Given the description of an element on the screen output the (x, y) to click on. 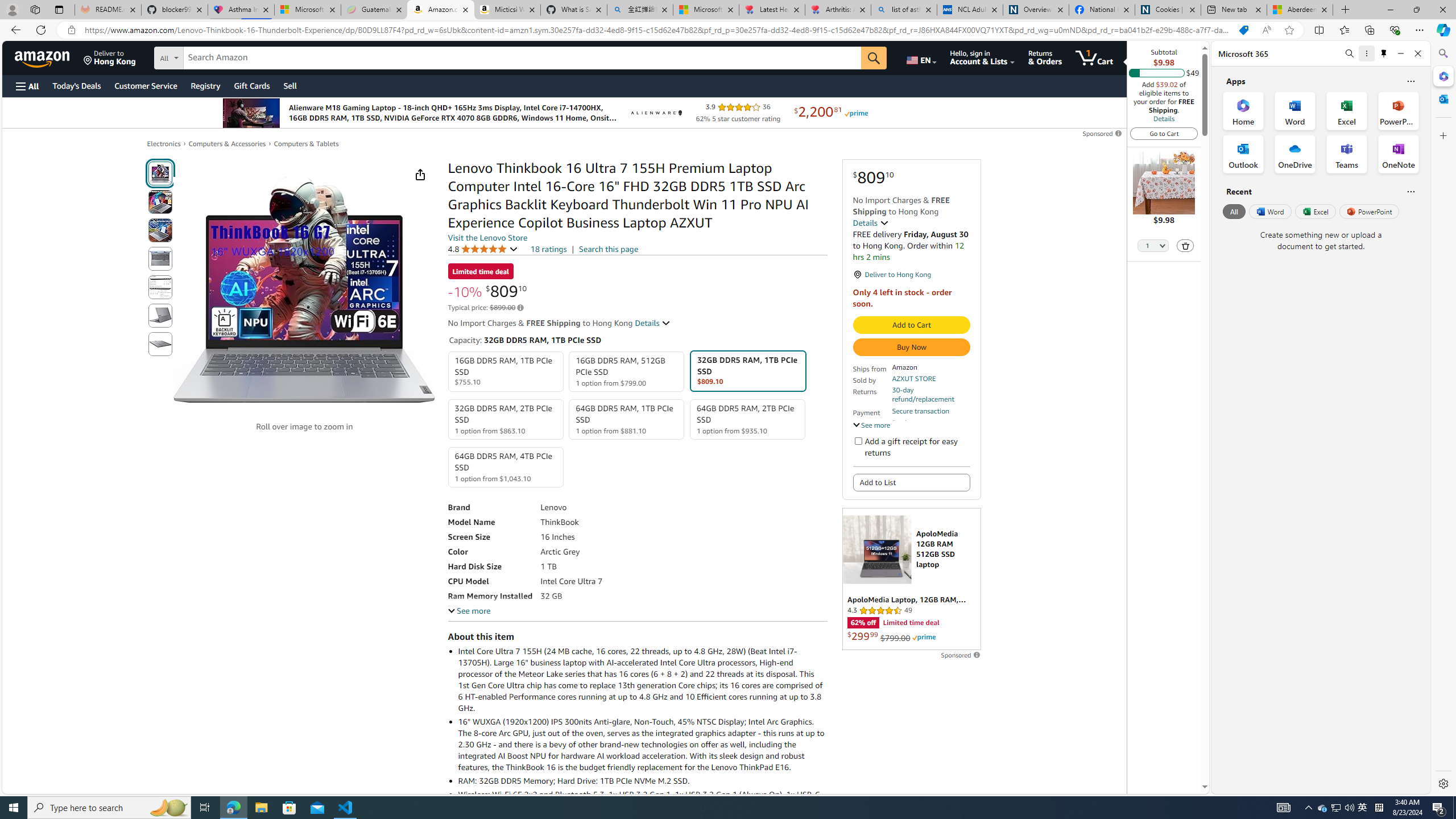
Add to List (911, 482)
Search in (210, 56)
Computers & Tablets (306, 143)
Side bar (1443, 418)
Go to Cart (1163, 133)
4.8 4.8 out of 5 stars (482, 248)
Search this page (608, 248)
1 item in cart (1094, 57)
Home Office App (1243, 110)
Quantity Selector (1153, 246)
32GB DDR5 RAM, 1TB PCIe SSD $809.10 (747, 370)
